Given the description of an element on the screen output the (x, y) to click on. 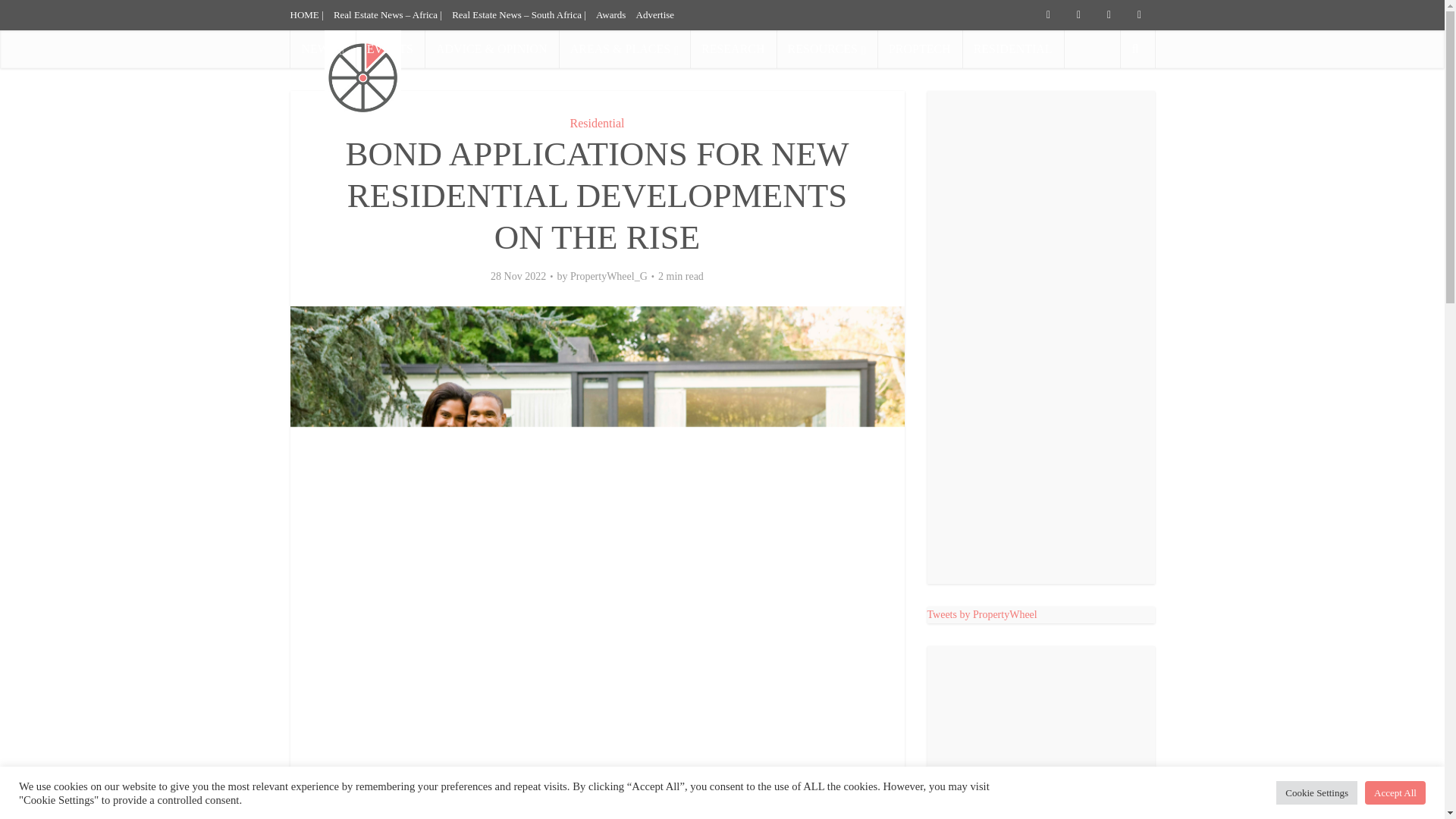
PROPTECH (919, 48)
EVENTS (390, 48)
RESIDENTIAL (1013, 48)
3rd party ad content (1040, 744)
3rd party ad content (878, 71)
RESOURCES (826, 48)
Awards (610, 14)
RESEARCH (733, 48)
Advertise (655, 14)
NEWS (322, 48)
